Given the description of an element on the screen output the (x, y) to click on. 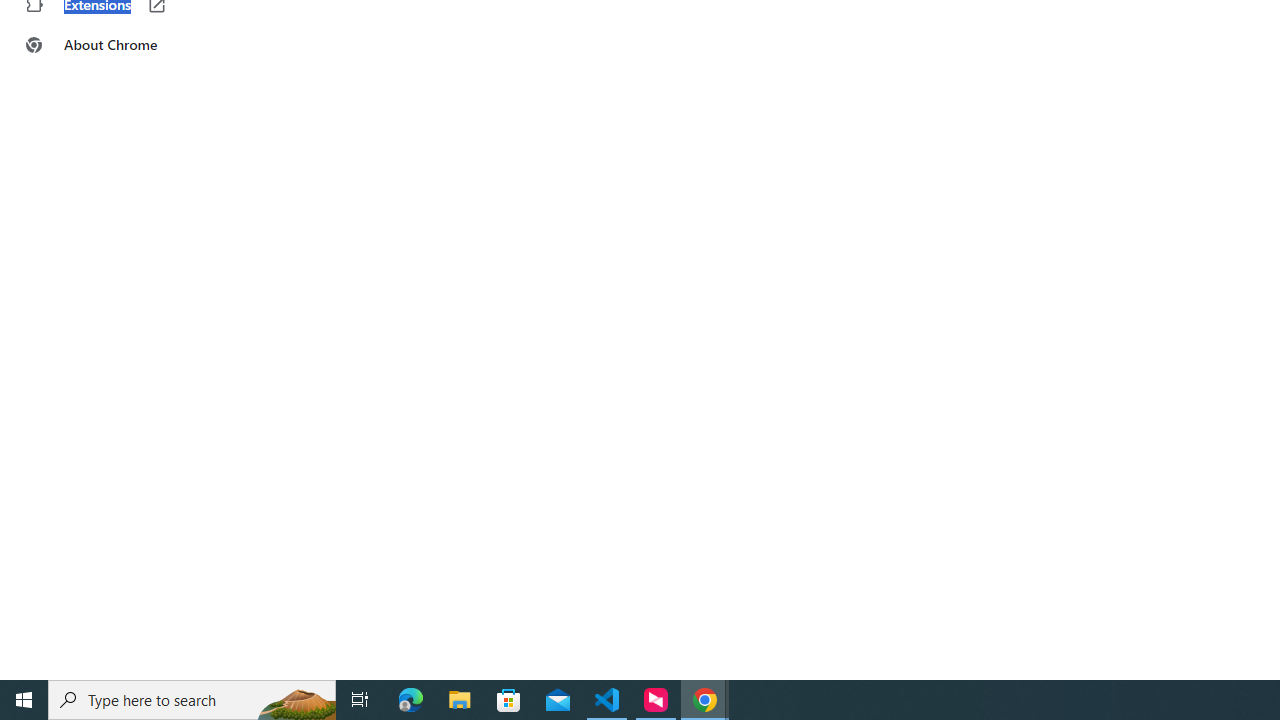
About Chrome (124, 44)
